Given the description of an element on the screen output the (x, y) to click on. 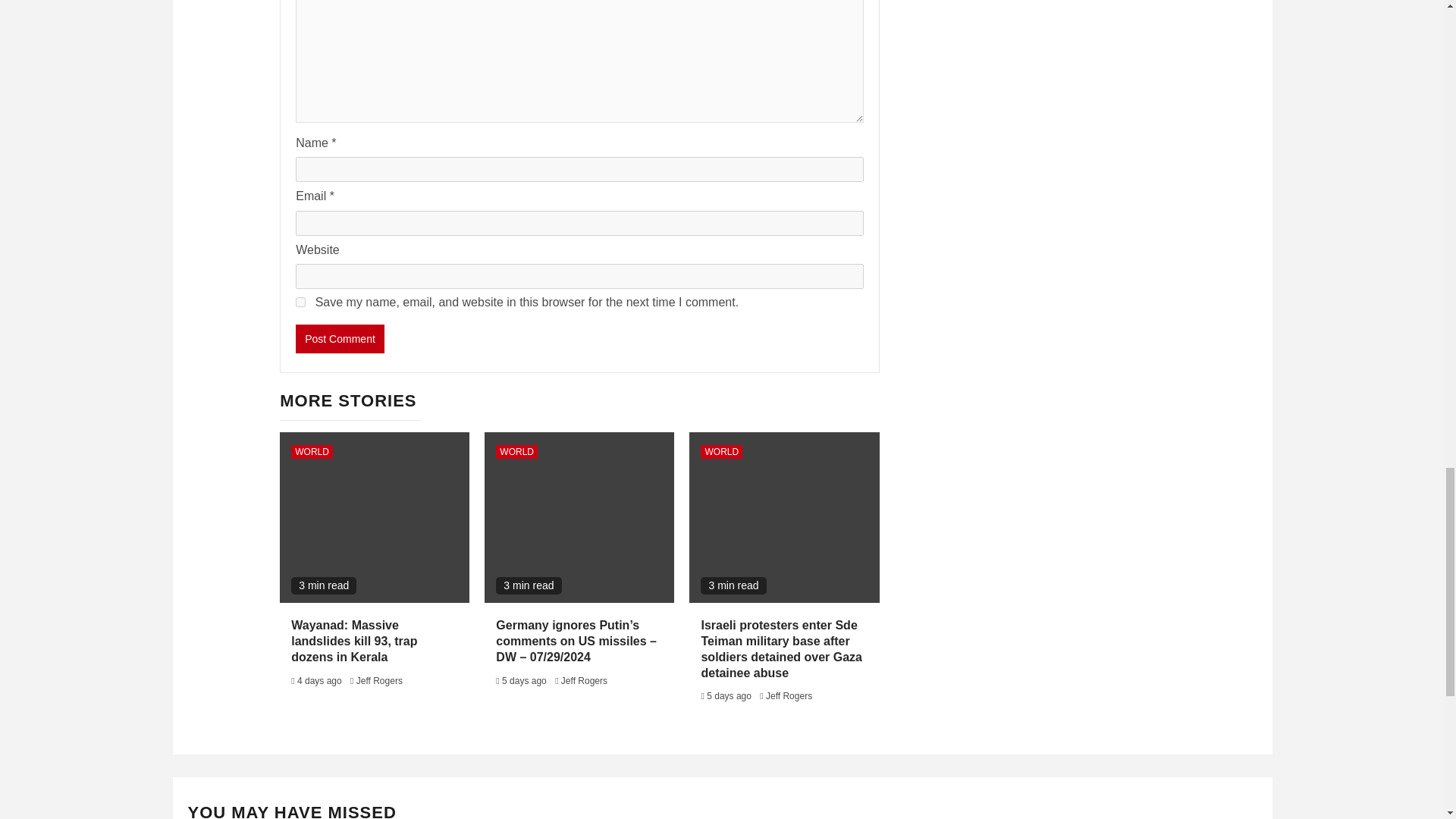
Jeff Rogers (788, 696)
Post Comment (339, 338)
WORLD (312, 451)
Jeff Rogers (583, 680)
WORLD (516, 451)
Jeff Rogers (379, 680)
yes (300, 302)
Wayanad: Massive landslides kill 93, trap dozens in Kerala (353, 641)
Post Comment (339, 338)
